Given the description of an element on the screen output the (x, y) to click on. 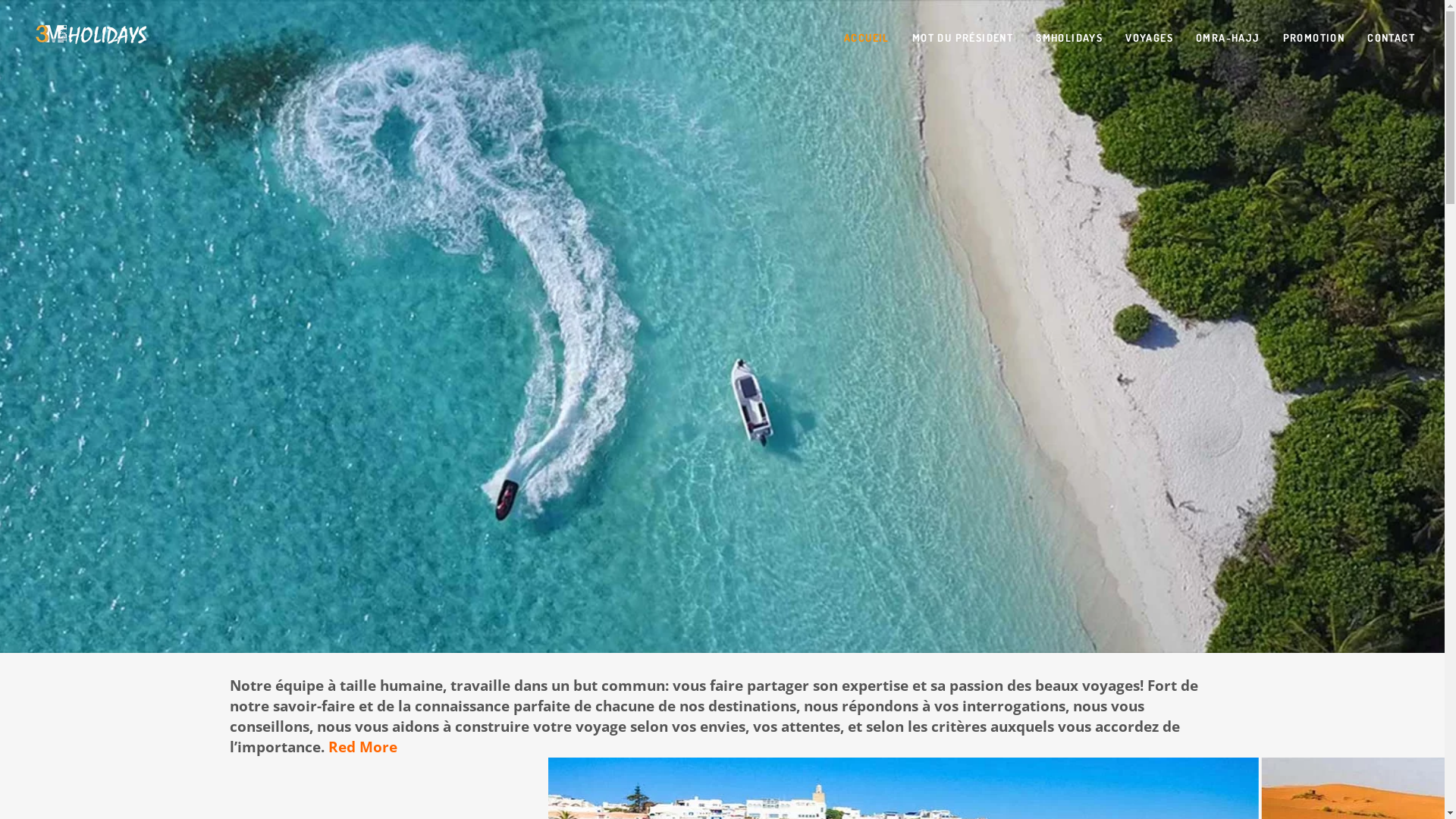
OMRA-HAJJ Element type: text (1227, 37)
PROMOTION Element type: text (1313, 37)
3MHOLIDAYS Element type: text (1068, 37)
ACCUEIL Element type: text (866, 37)
VOYAGES Element type: text (1148, 37)
Red More Element type: text (360, 746)
CONTACT Element type: text (1390, 37)
